Given the description of an element on the screen output the (x, y) to click on. 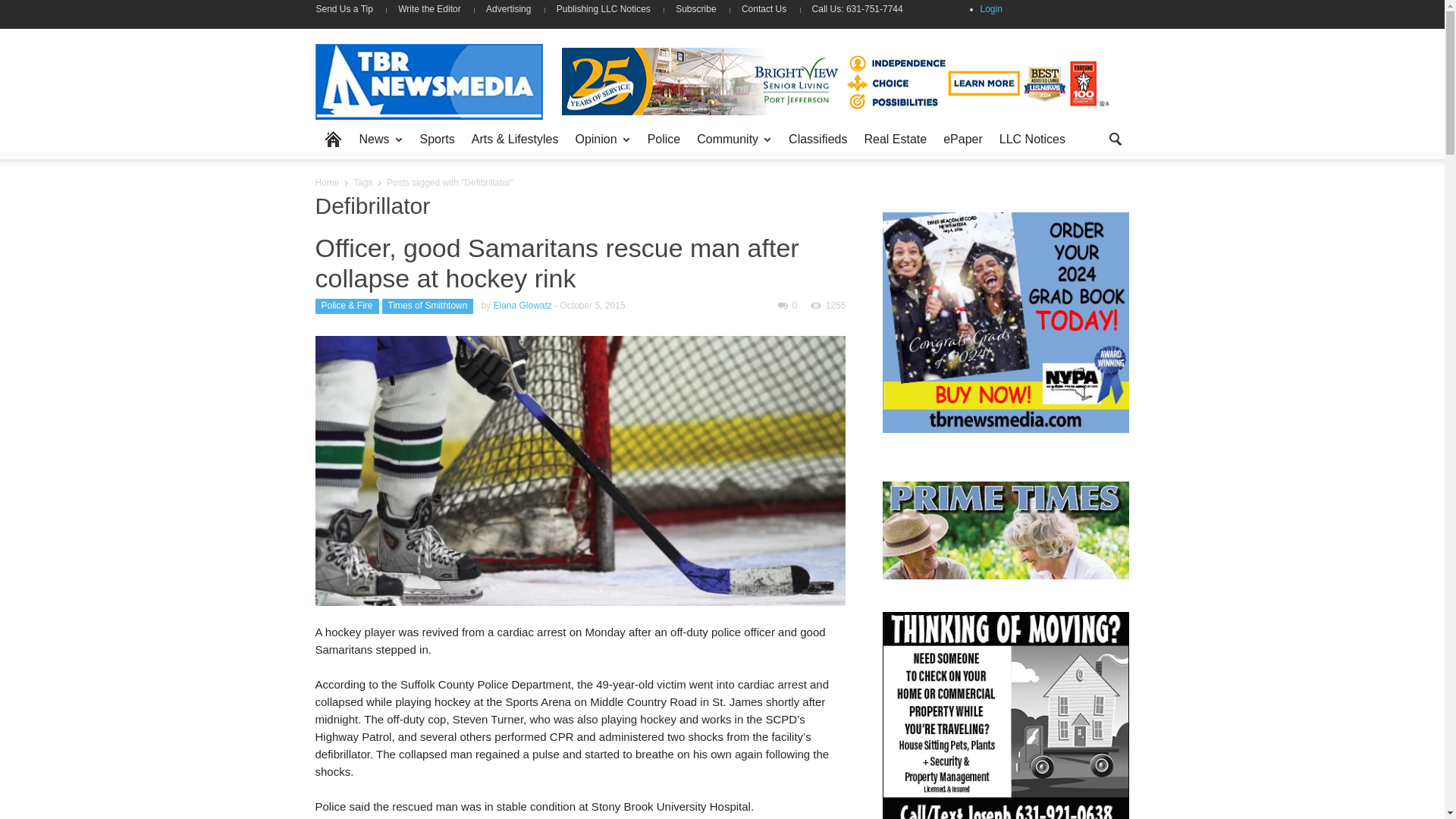
BrightView (836, 80)
Advertising (507, 9)
Send Us a Tip (349, 9)
